Given the description of an element on the screen output the (x, y) to click on. 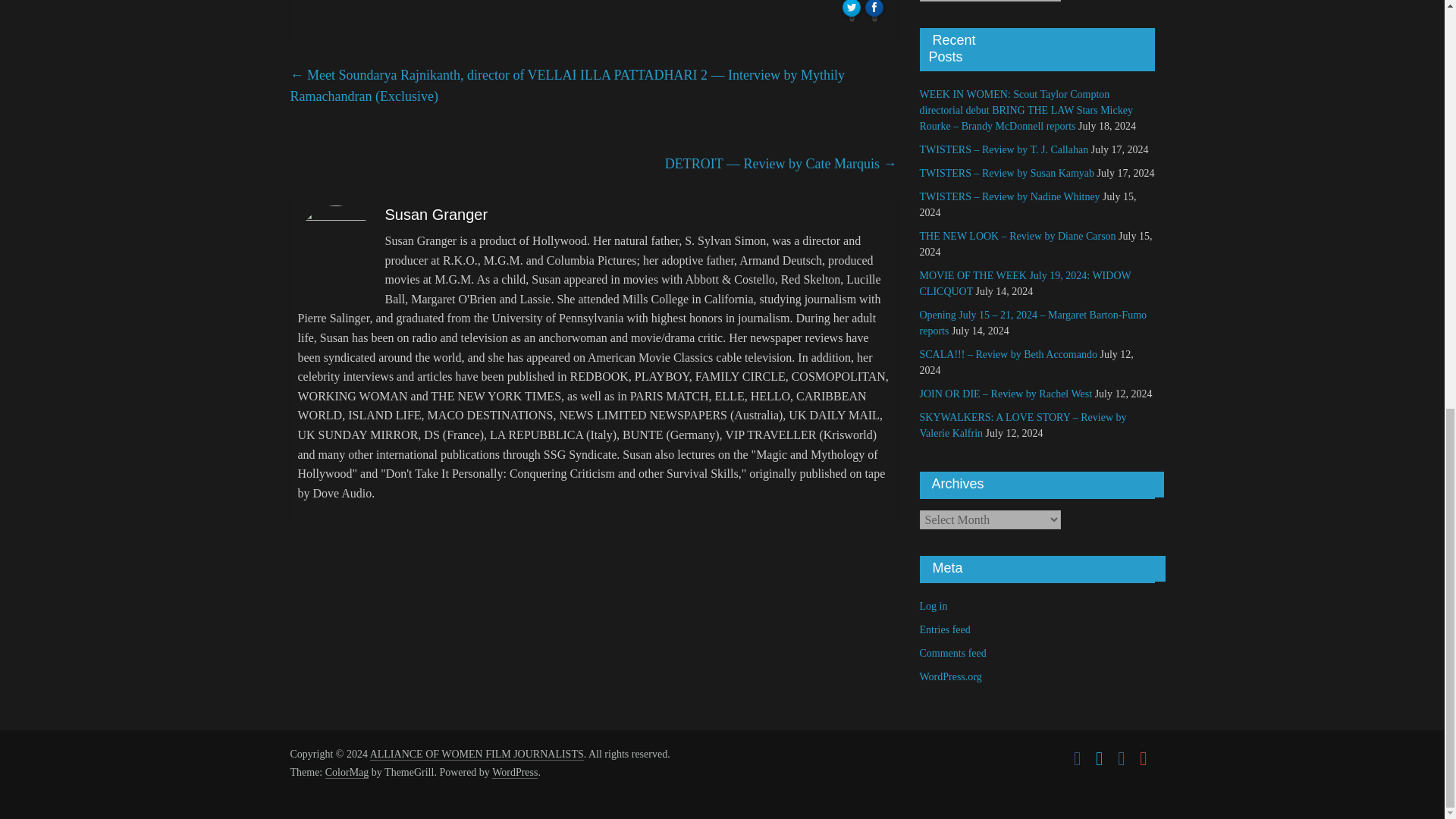
ALLIANCE OF WOMEN FILM JOURNALISTS (476, 754)
ColorMag (346, 772)
WordPress (514, 772)
